Given the description of an element on the screen output the (x, y) to click on. 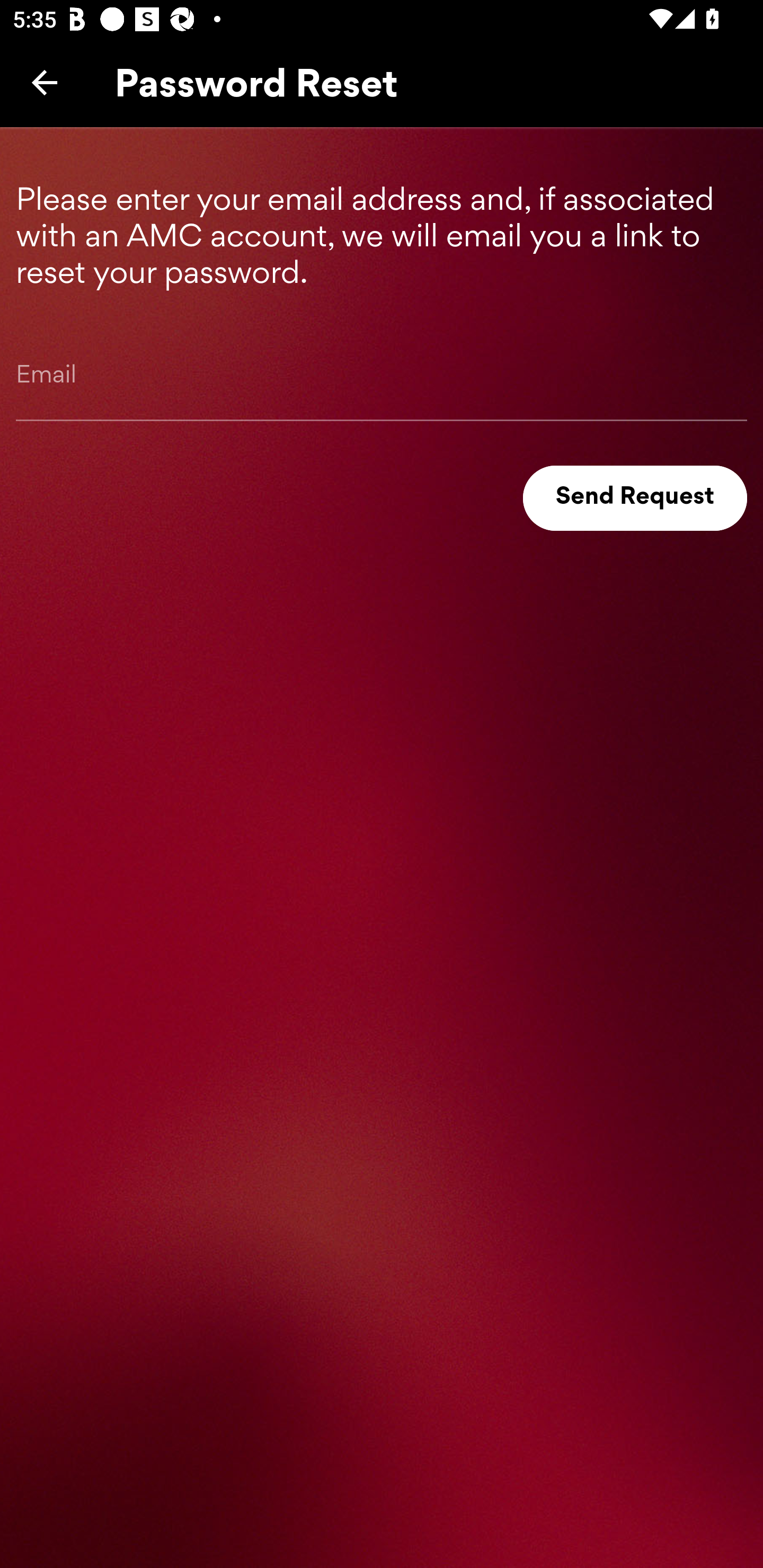
Back (44, 82)
Send Request (634, 498)
